Given the description of an element on the screen output the (x, y) to click on. 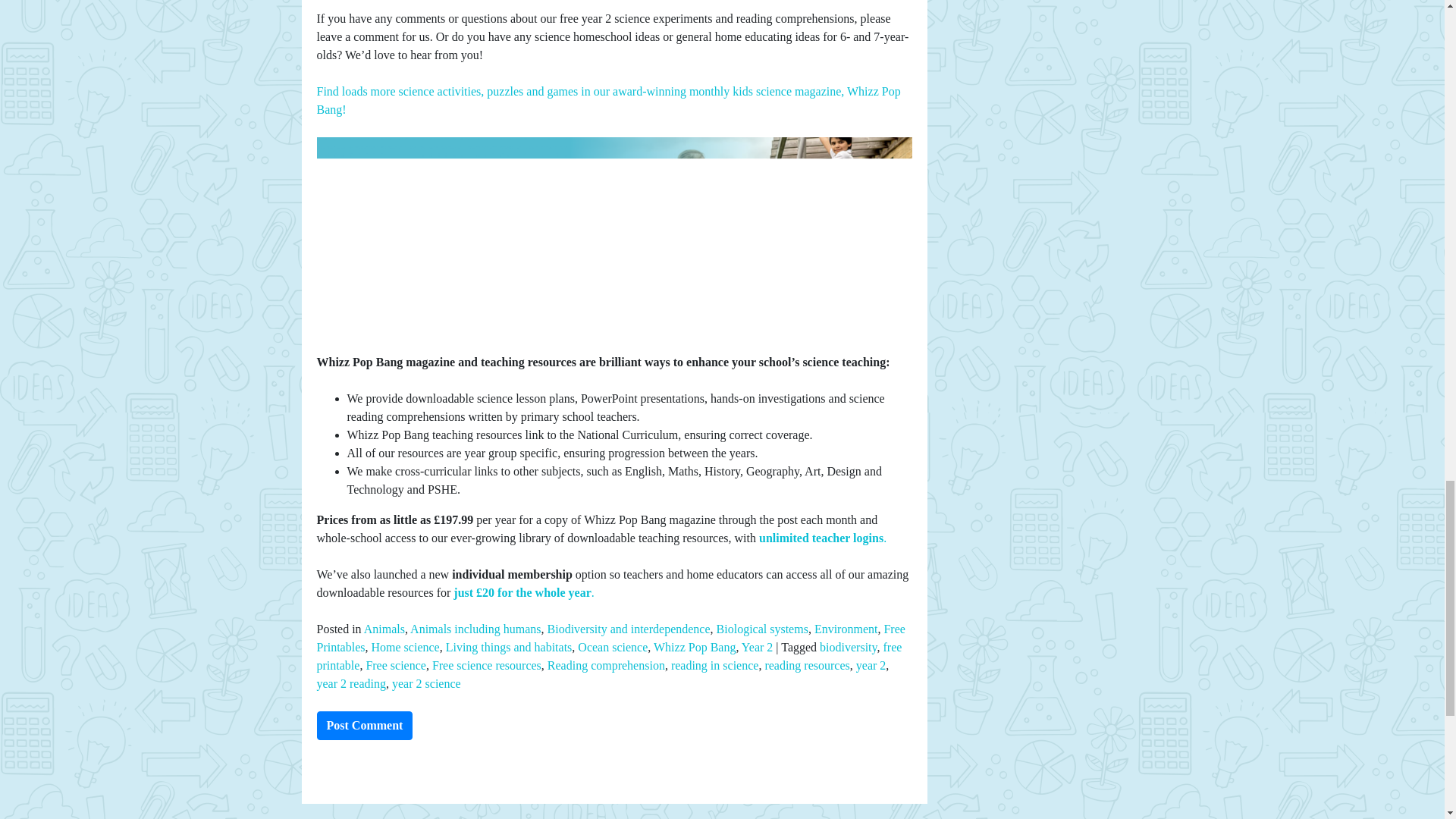
Animals (384, 628)
unlimited teacher logins. (822, 537)
